Given the description of an element on the screen output the (x, y) to click on. 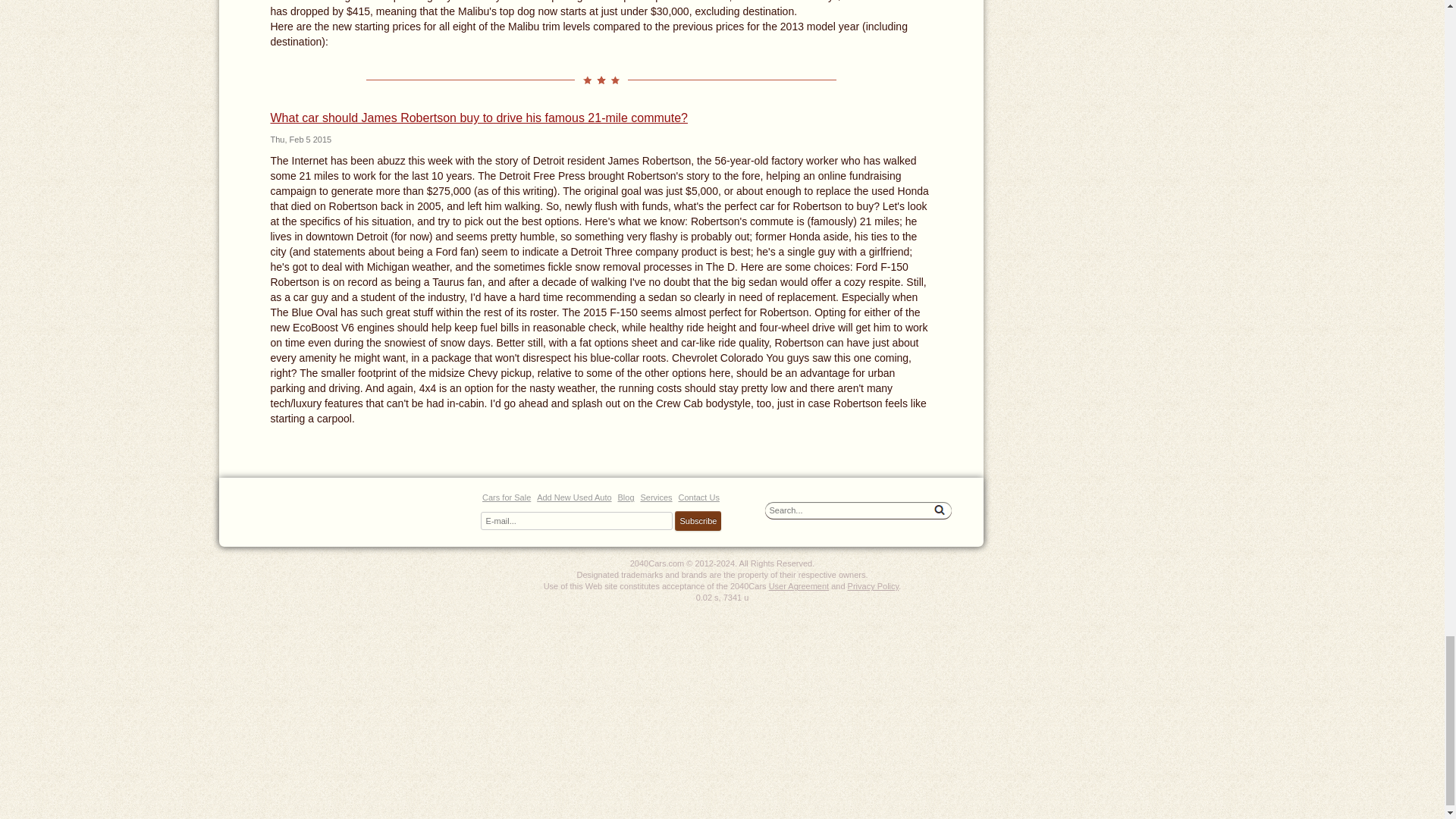
User Agreement (798, 585)
Subscribe (697, 520)
Cars (350, 509)
Services (655, 497)
Privacy Policy (873, 585)
Blog (625, 497)
Contact Us (698, 497)
Add New Used Auto (574, 497)
Cars for Sale (506, 497)
